Given the description of an element on the screen output the (x, y) to click on. 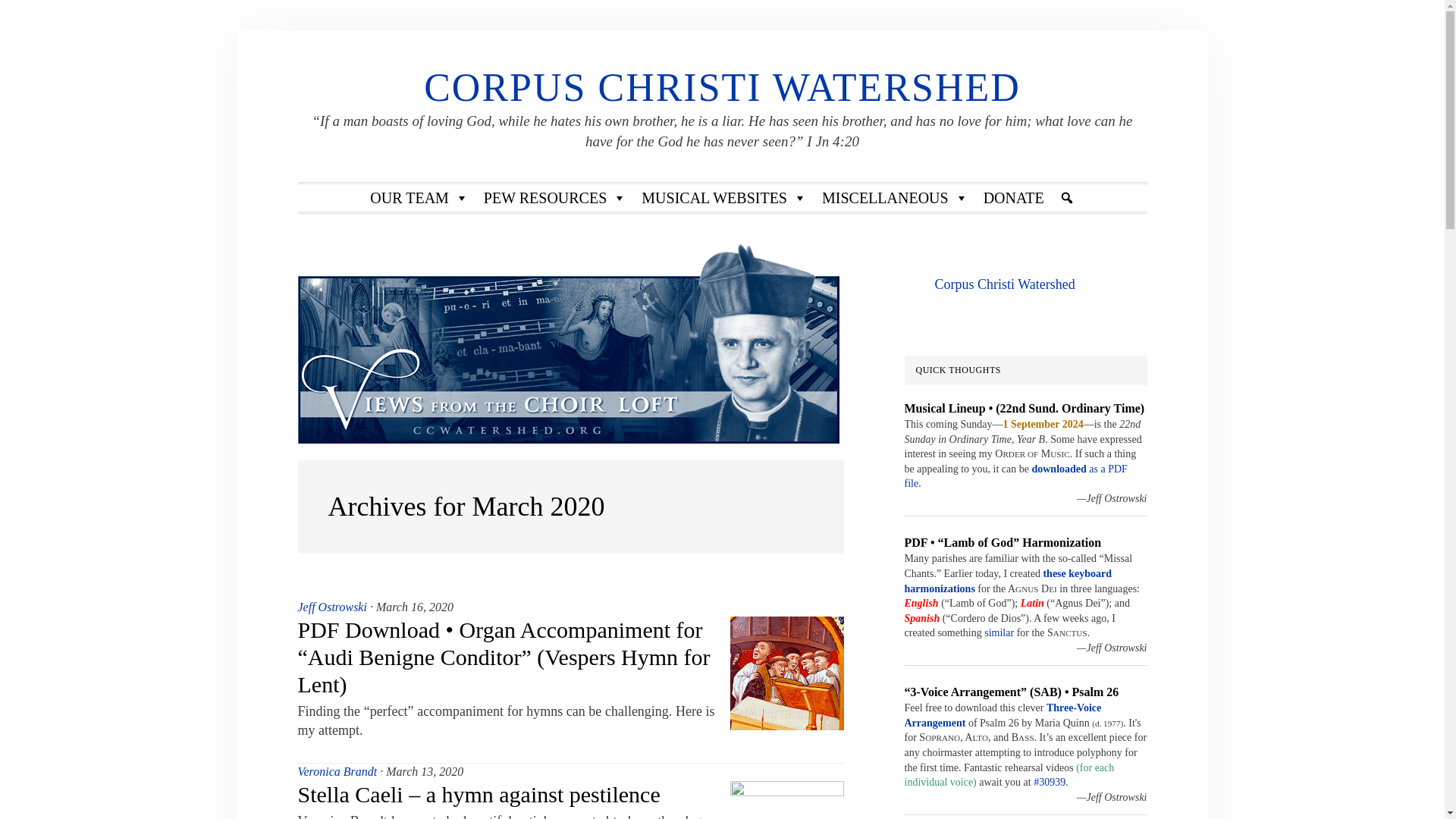
MUSICAL WEBSITES (723, 197)
OUR TEAM (419, 197)
PEW RESOURCES (554, 197)
MISCELLANEOUS (894, 197)
DONATE (1013, 197)
CORPUS CHRISTI WATERSHED (721, 87)
Jeff Ostrowski (331, 606)
